Given the description of an element on the screen output the (x, y) to click on. 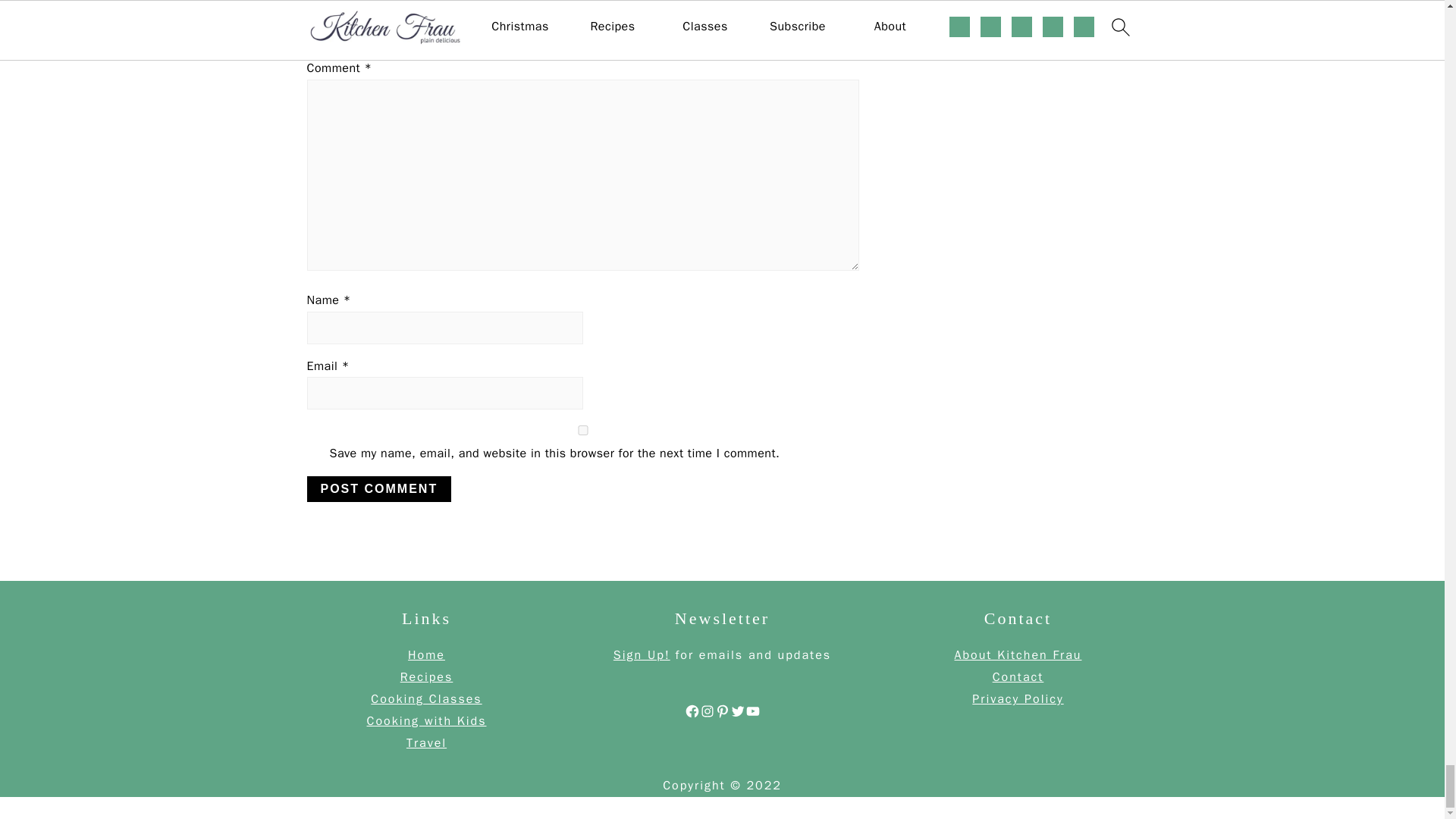
yes (582, 429)
Post Comment (378, 488)
